Given the description of an element on the screen output the (x, y) to click on. 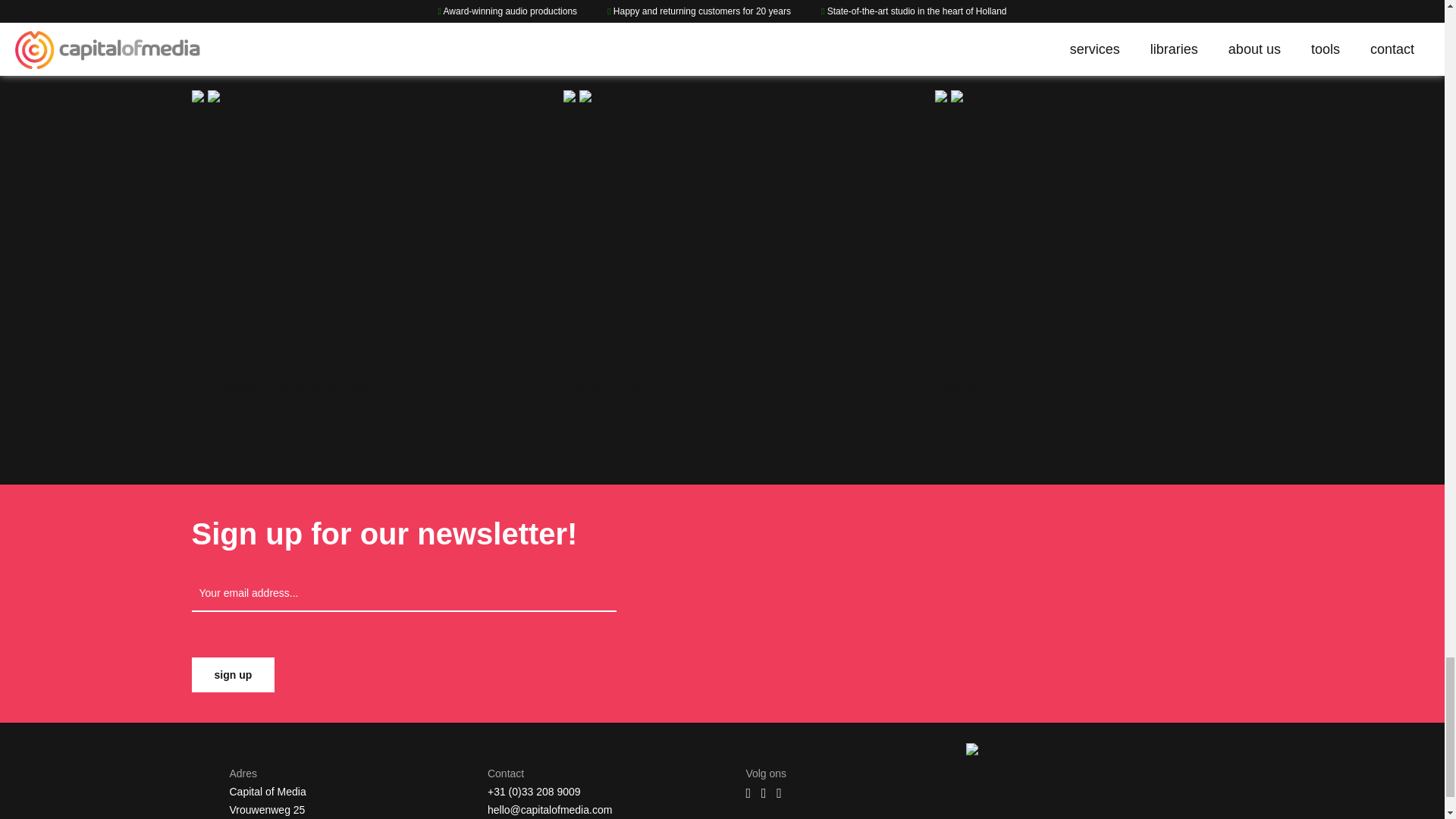
sign up (232, 674)
